Given the description of an element on the screen output the (x, y) to click on. 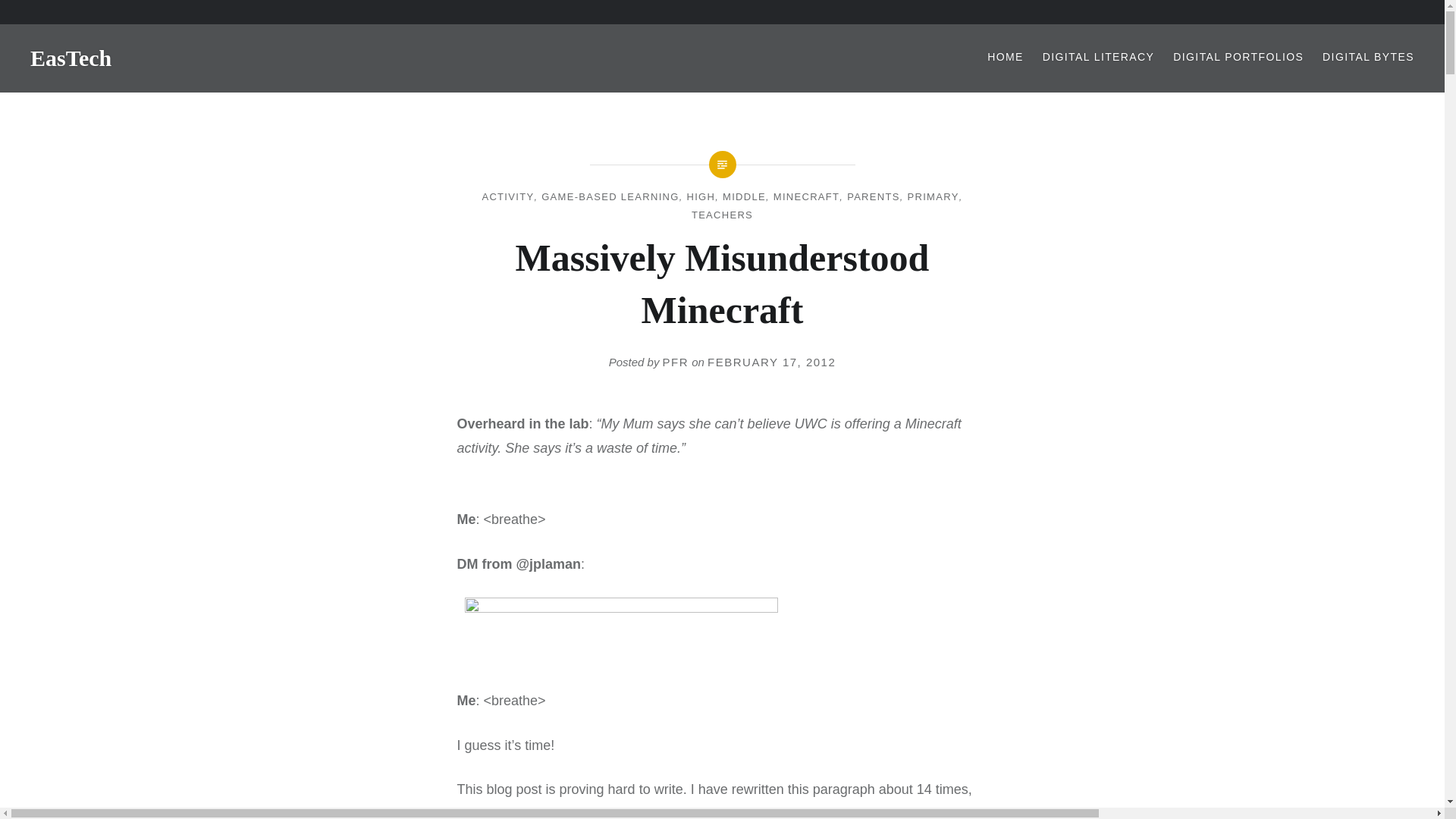
TEACHERS (721, 214)
HOME (1005, 57)
PRIMARY (933, 196)
ACTIVITY (507, 196)
DIGITAL LITERACY (1098, 57)
Screen Shot 2012-02-14 at 8.44.59 AM (620, 633)
HIGH (701, 196)
DIGITAL PORTFOLIOS (1238, 57)
PFR (675, 361)
PARENTS (873, 196)
EasTech (71, 57)
MINECRAFT (806, 196)
MIDDLE (743, 196)
GAME-BASED LEARNING (609, 196)
FEBRUARY 17, 2012 (771, 361)
